Given the description of an element on the screen output the (x, y) to click on. 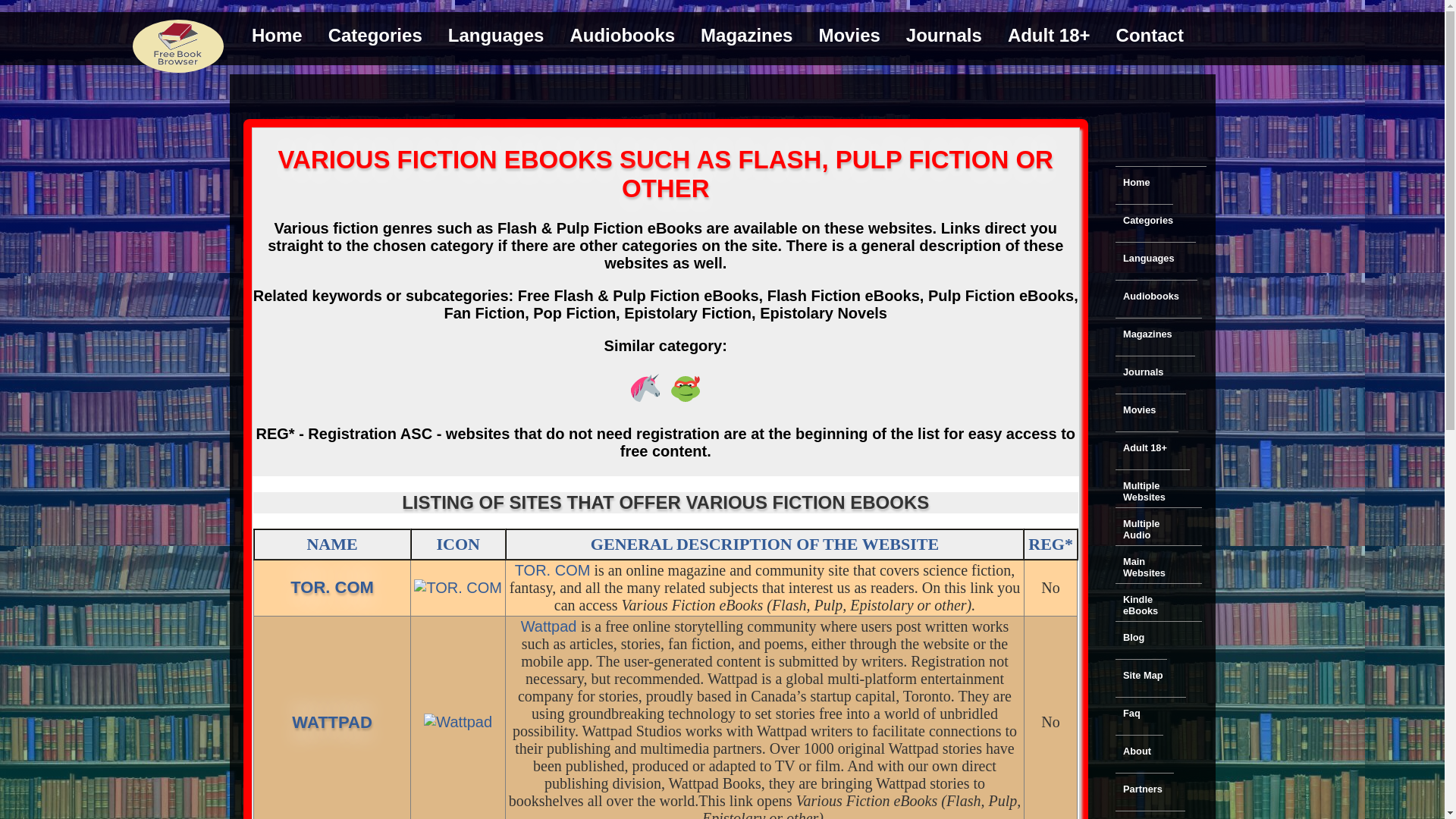
Home (277, 35)
Magazines (1147, 334)
Journals (1142, 371)
Audiobooks (1150, 295)
Home (1136, 181)
Categories (374, 35)
Languages (495, 35)
Contact (1149, 35)
Movies (848, 35)
WATTPAD (332, 722)
TOR. COM (553, 569)
Wattpad (550, 626)
Audiobooks (622, 35)
Categories (457, 722)
